Given the description of an element on the screen output the (x, y) to click on. 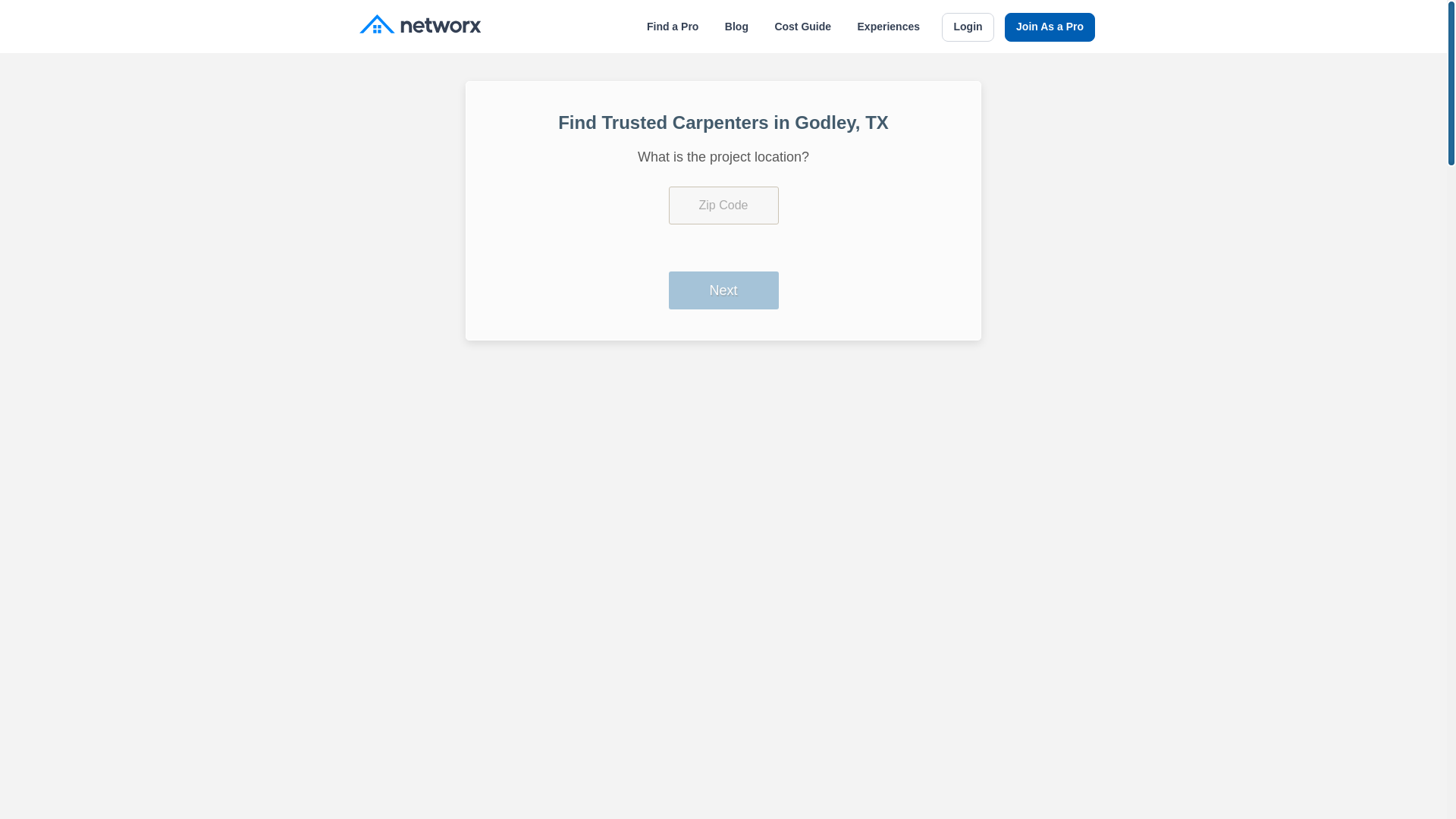
Join As a Pro (1049, 27)
Find a Pro (672, 26)
Next (723, 290)
Cost Guide (802, 26)
Login (967, 27)
Please enter a valid zip code (723, 205)
Networx (419, 25)
Experiences (888, 26)
